Given the description of an element on the screen output the (x, y) to click on. 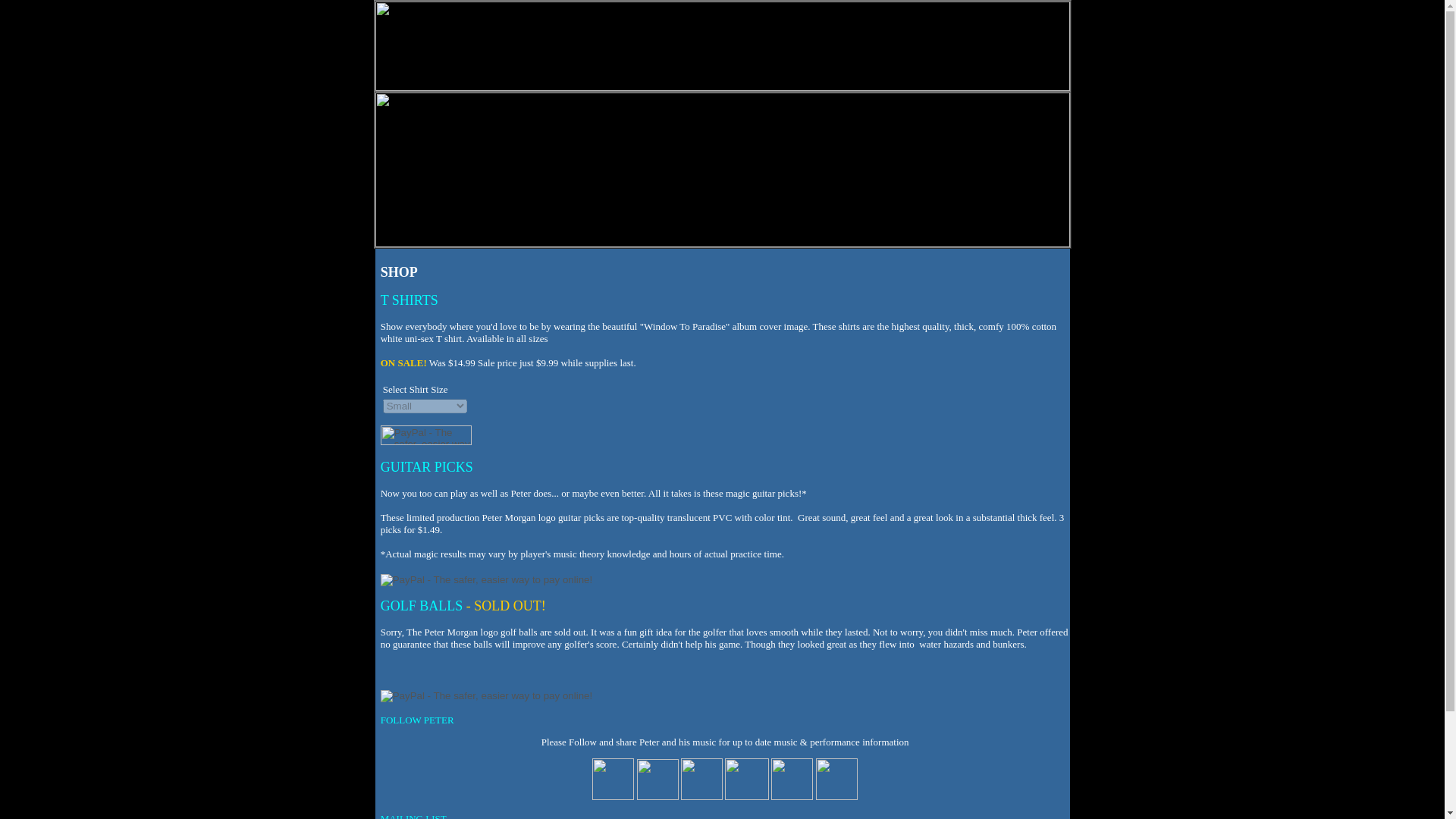
Peter Morgan Linkedin (791, 796)
Peter Morgan Twitter (701, 796)
Peter Morgan Facebook (657, 796)
Peter Morgan Youtube channel (612, 796)
Peter Morgan Spotify (836, 796)
Peter Morgan Instagram (746, 796)
